Given the description of an element on the screen output the (x, y) to click on. 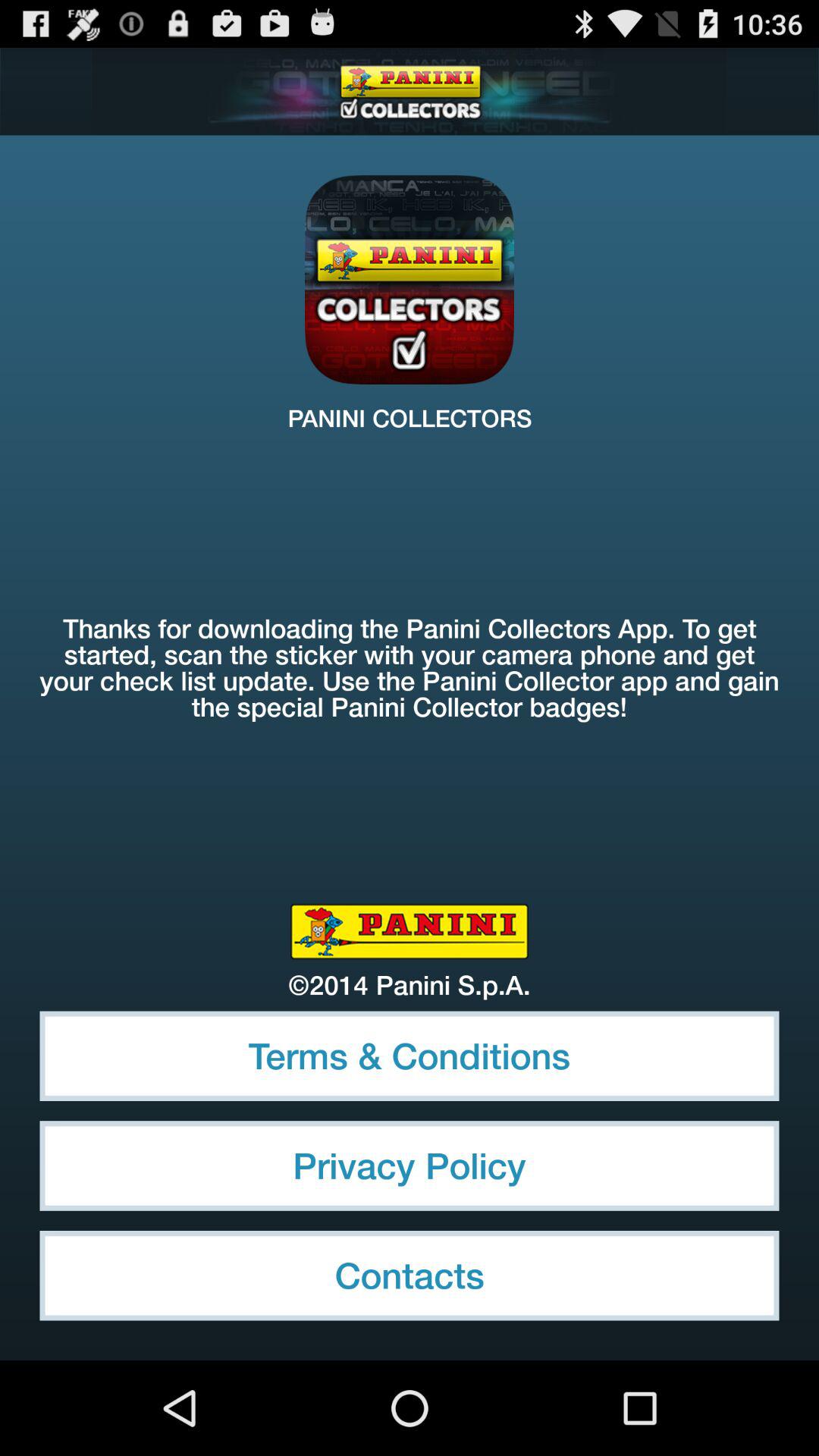
click item below the 2014 panini s (409, 1056)
